Given the description of an element on the screen output the (x, y) to click on. 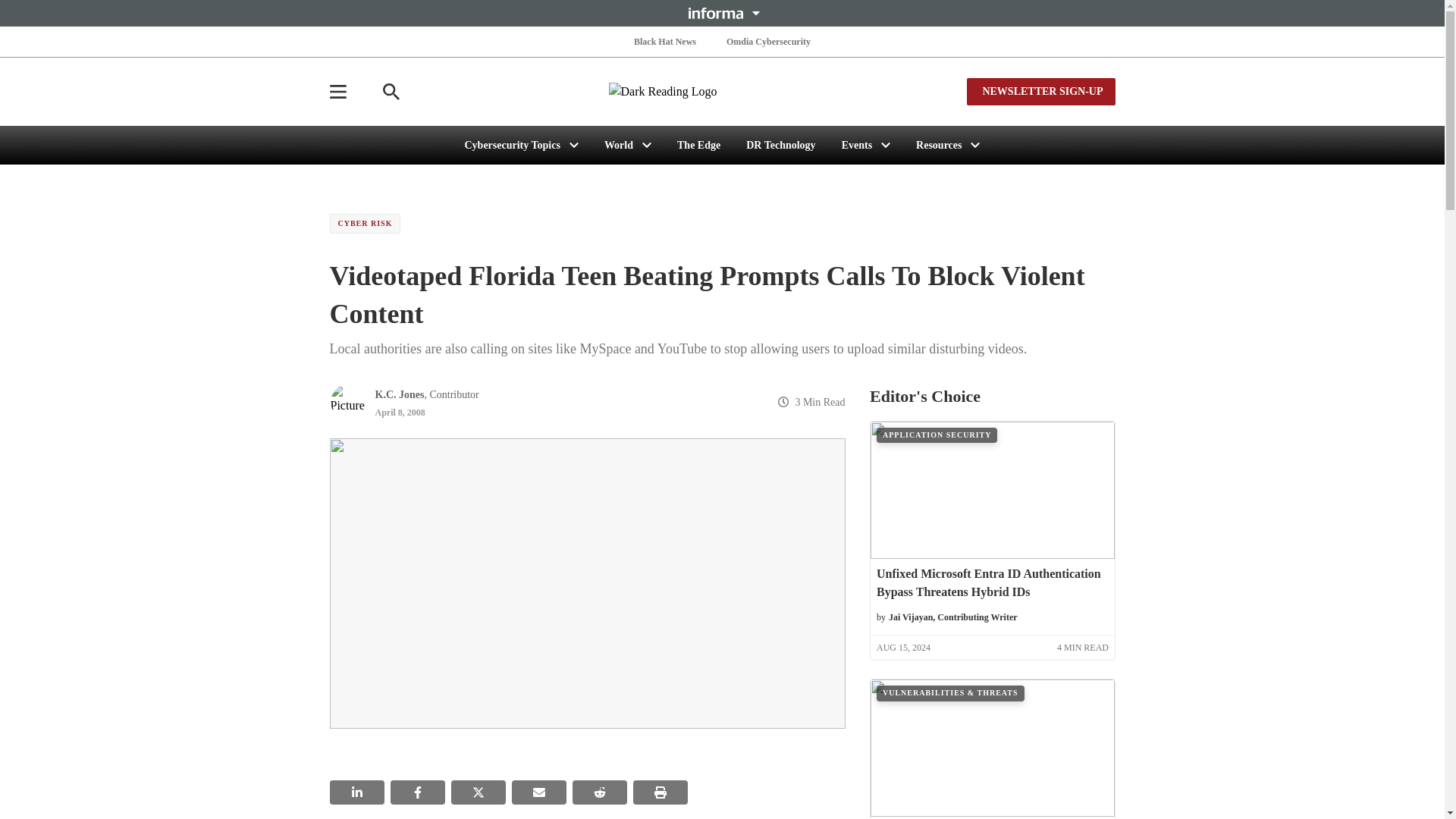
Black Hat News (664, 41)
Picture of K.C. Jones (347, 402)
NEWSLETTER SIGN-UP (1040, 90)
Dark Reading Logo (721, 91)
Omdia Cybersecurity (768, 41)
